Given the description of an element on the screen output the (x, y) to click on. 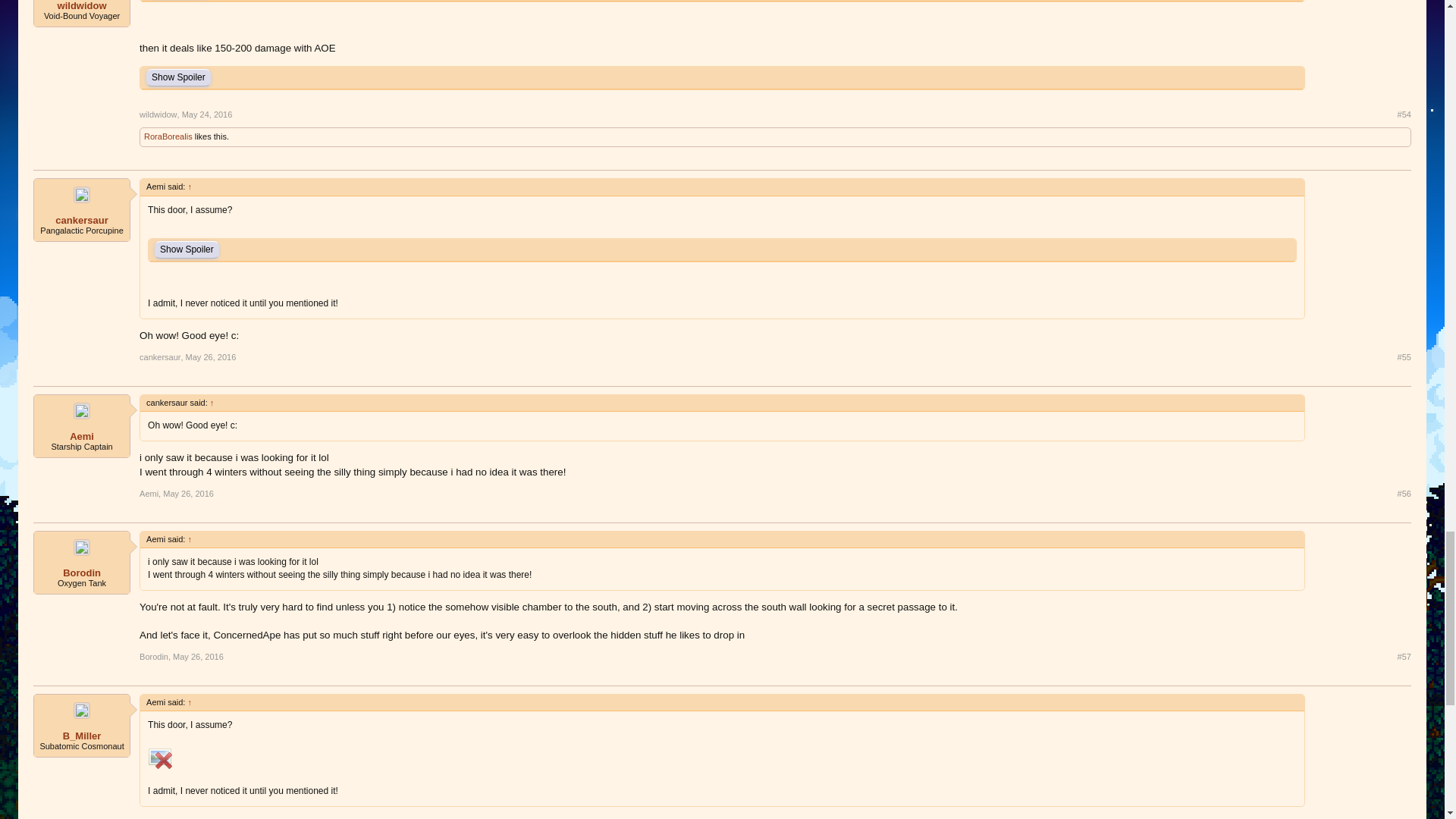
Show Spoiler (179, 77)
Show Spoiler (186, 249)
